Given the description of an element on the screen output the (x, y) to click on. 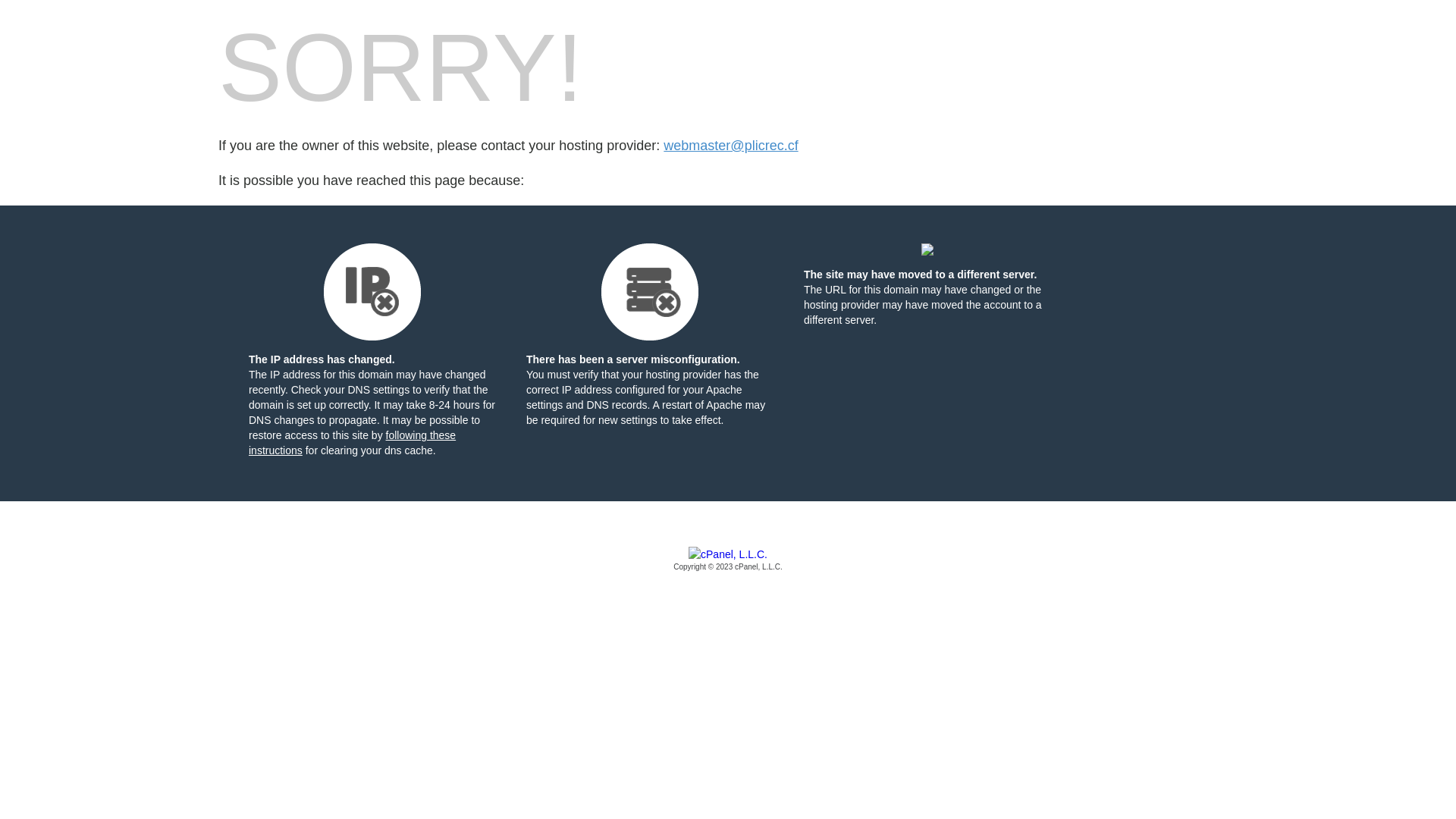
following these instructions Element type: text (351, 442)
webmaster@plicrec.cf Element type: text (730, 145)
